Given the description of an element on the screen output the (x, y) to click on. 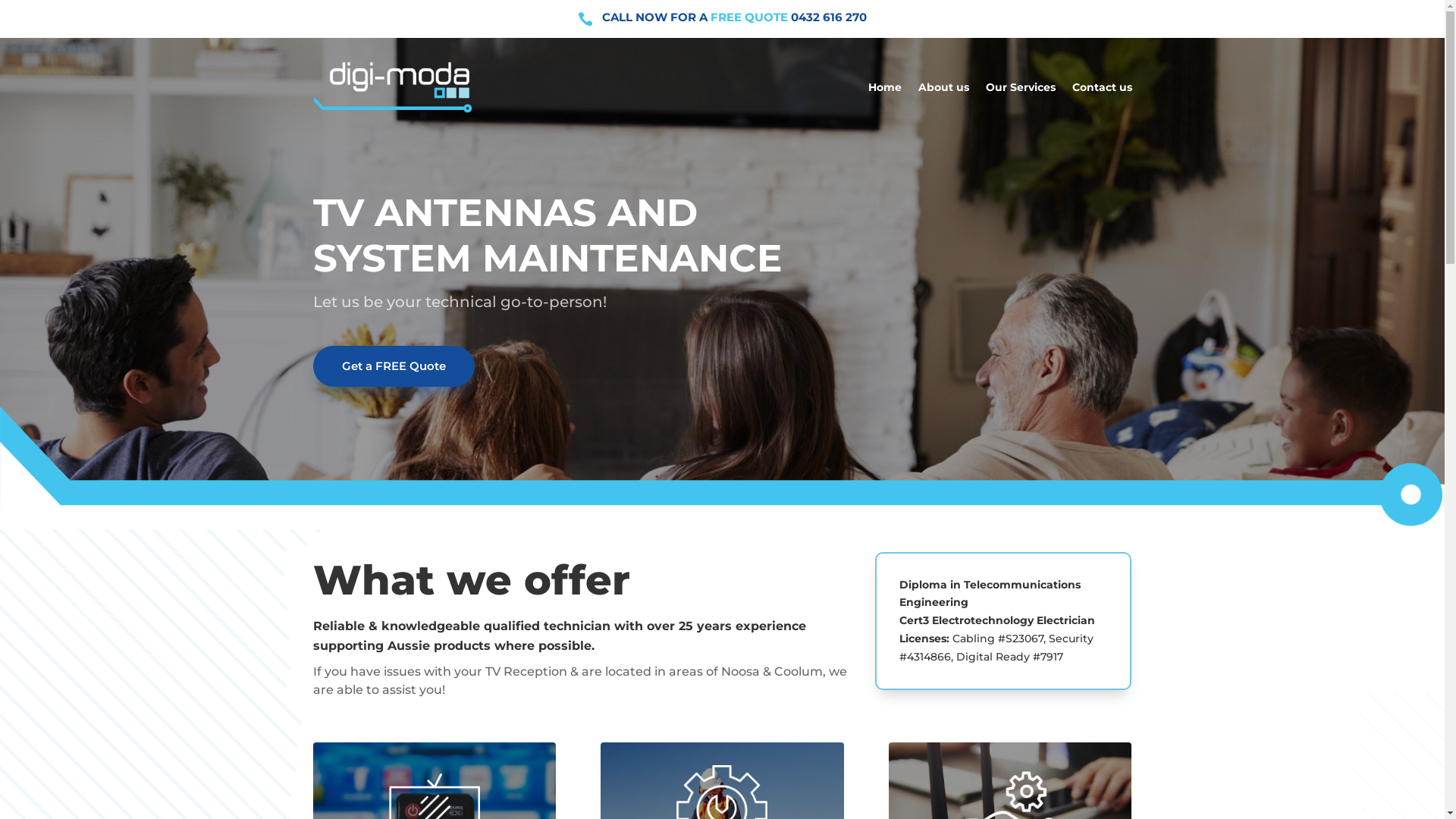
Contact us Element type: text (1102, 87)
White divider 02 mobile Element type: hover (722, 467)
Home Element type: text (883, 87)
Our Services Element type: text (1020, 87)
About us Element type: text (942, 87)
Get a FREE Quote Element type: text (392, 365)
